Given the description of an element on the screen output the (x, y) to click on. 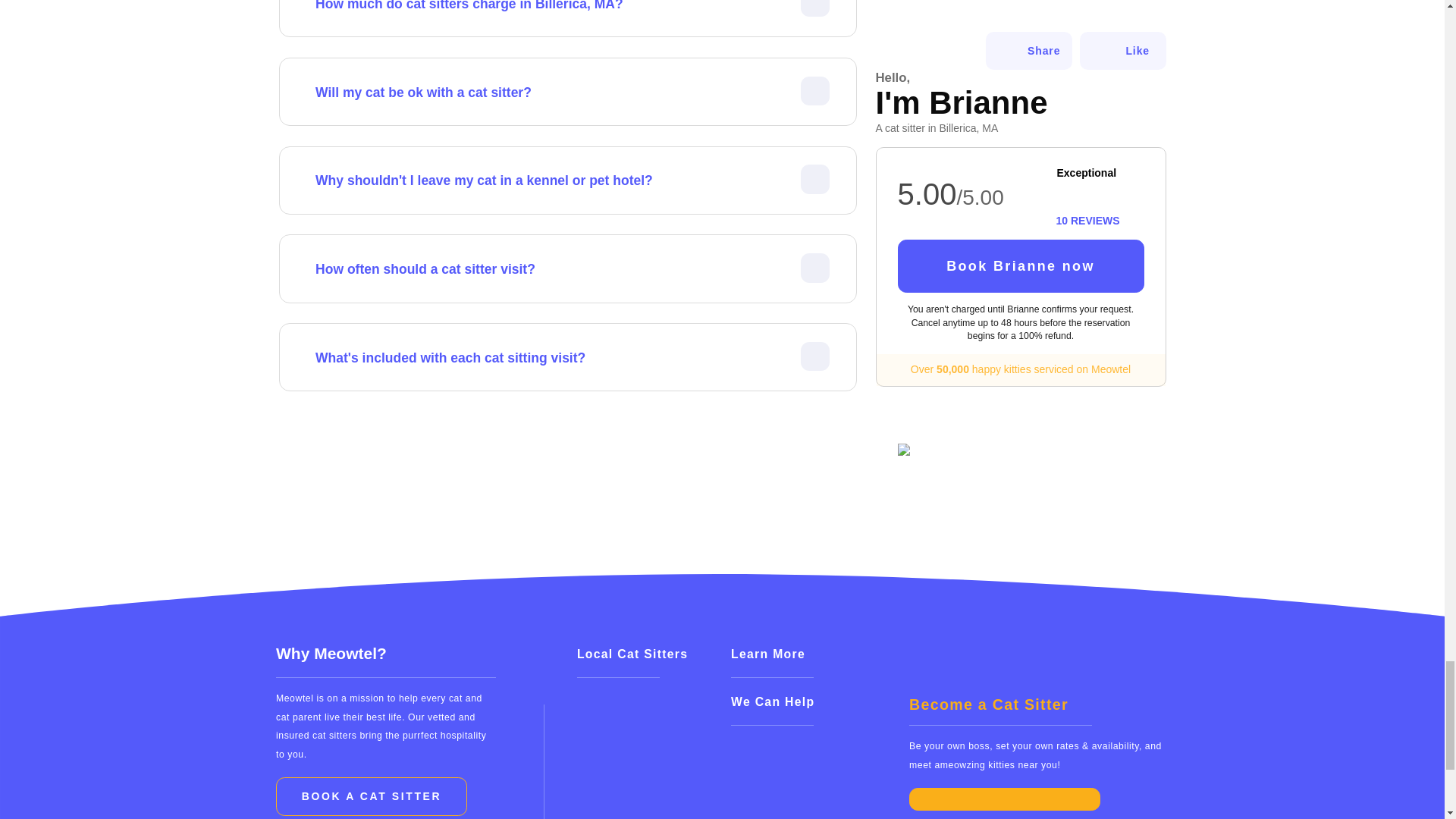
How often should a cat sitter visit? (572, 269)
How much do cat sitters charge in Billerica, MA? (572, 7)
Will my cat be ok with a cat sitter? (572, 92)
BOOK A CAT SITTER (371, 796)
Why shouldn't I leave my cat in a kennel or pet hotel? (572, 179)
What's included with each cat sitting visit? (572, 357)
